Given the description of an element on the screen output the (x, y) to click on. 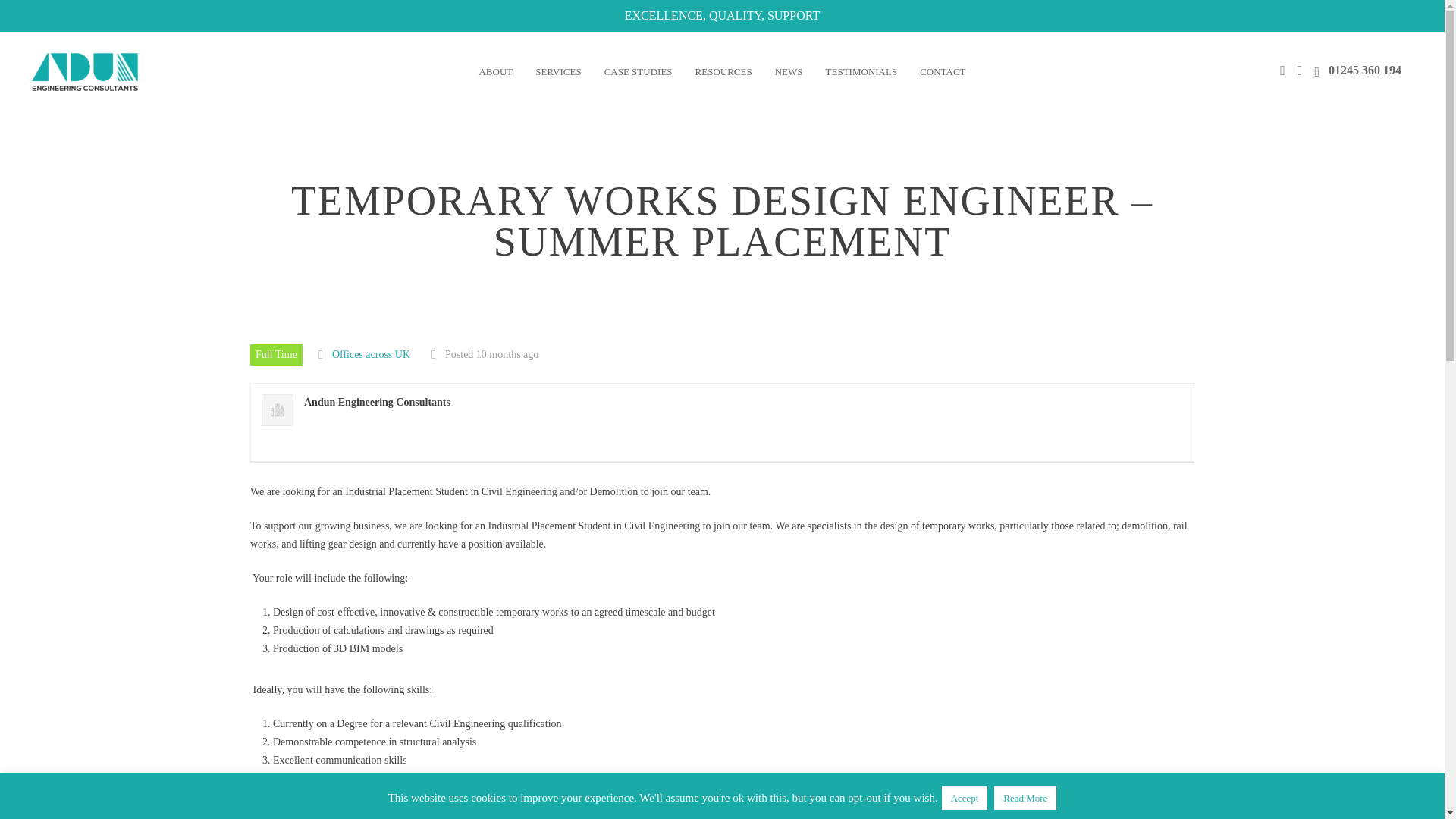
RESOURCES (723, 71)
SERVICES (558, 71)
ABOUT (495, 71)
CASE STUDIES (638, 71)
